Given the description of an element on the screen output the (x, y) to click on. 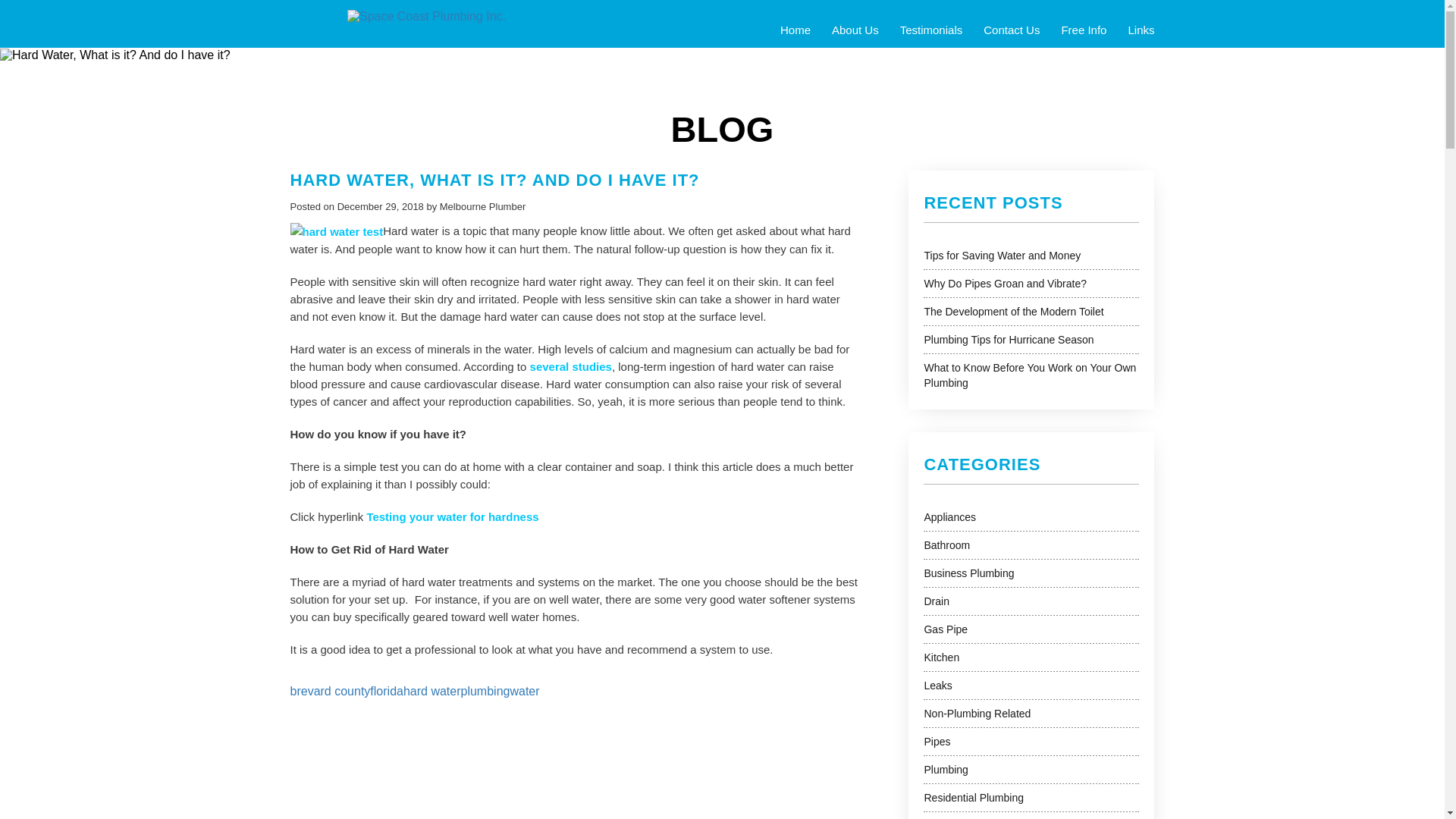
Drain (936, 601)
Testimonials (931, 30)
Appliances (949, 517)
Non-Plumbing Related (976, 713)
Why Do Pipes Groan and Vibrate? (1004, 283)
Tips for Saving Water and Money (1001, 255)
hard water (432, 690)
water (523, 690)
Space Coast Plumbing Inc. (426, 15)
Kitchen (941, 657)
Home (795, 30)
Residential Plumbing (973, 797)
Testing your water for hardness (452, 516)
florida (386, 690)
Free Info (1082, 30)
